Given the description of an element on the screen output the (x, y) to click on. 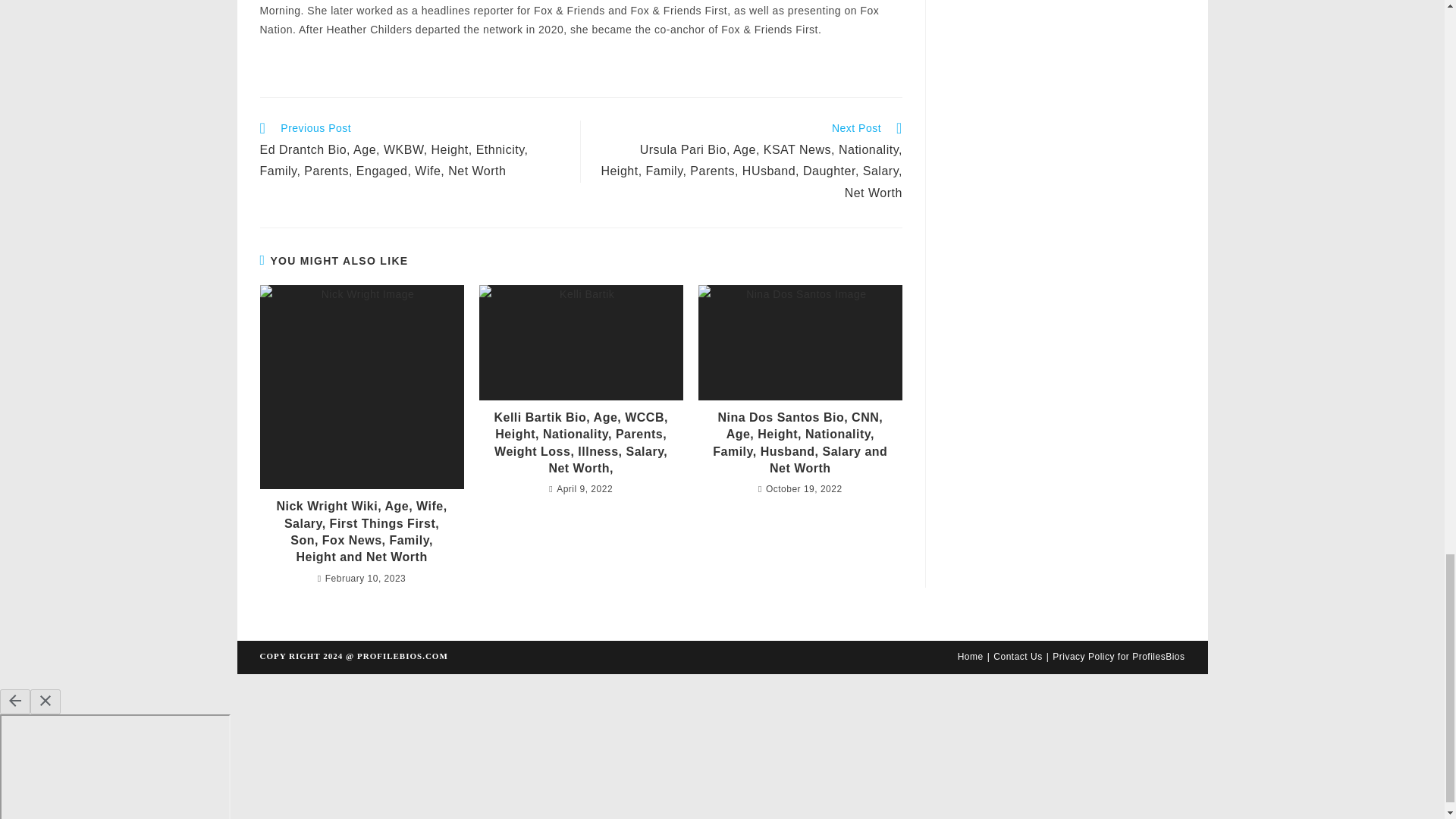
Contact Us (1017, 656)
Privacy Policy for ProfilesBios (1118, 656)
Home (971, 656)
